Given the description of an element on the screen output the (x, y) to click on. 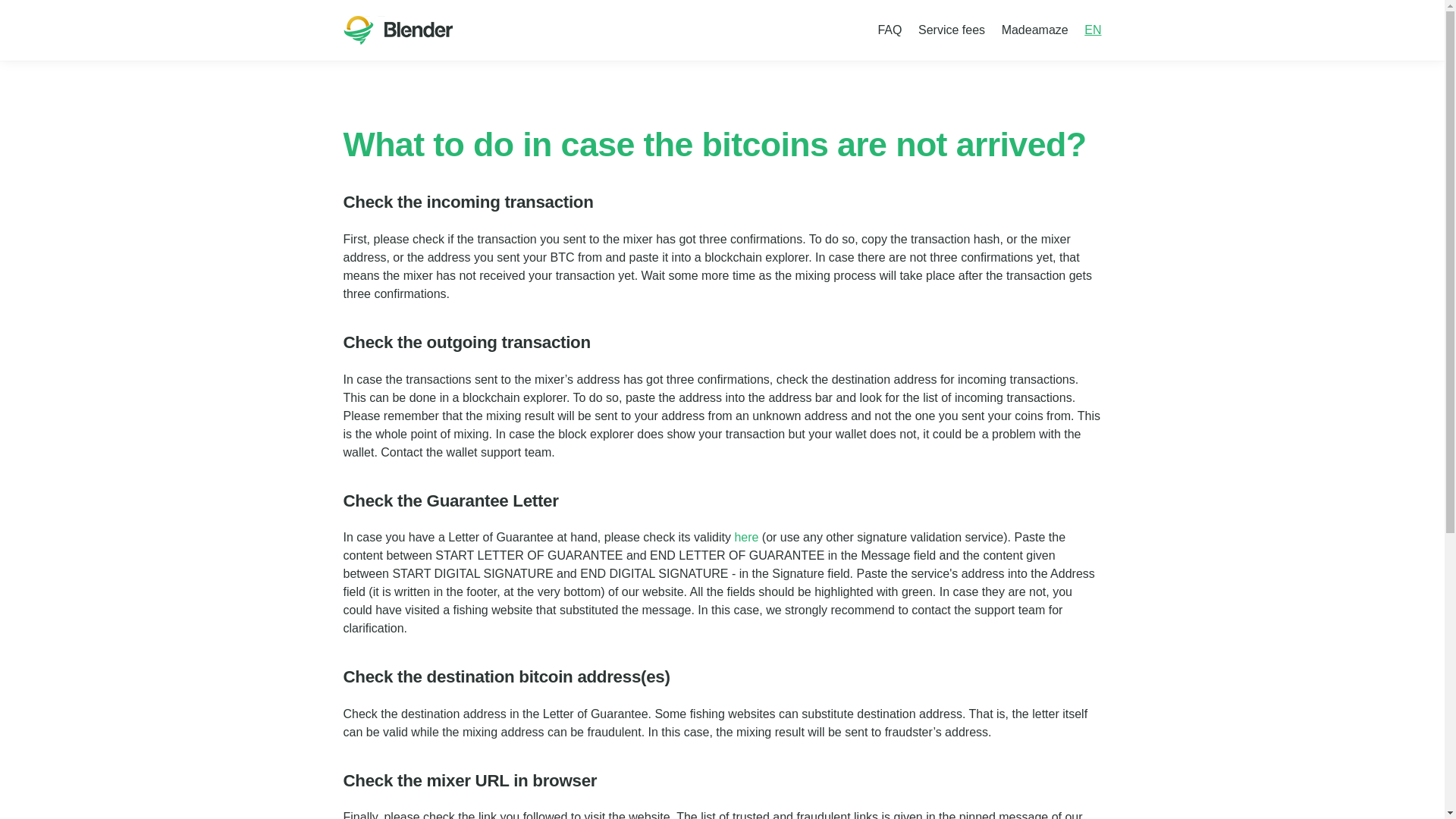
FAQ (890, 30)
Frequently asked questions (890, 30)
Madeamaze (1034, 30)
Service fees (951, 30)
Madeamaze (1034, 30)
Service fees (951, 30)
Bitcoin Mixer (396, 30)
here (745, 536)
